Given the description of an element on the screen output the (x, y) to click on. 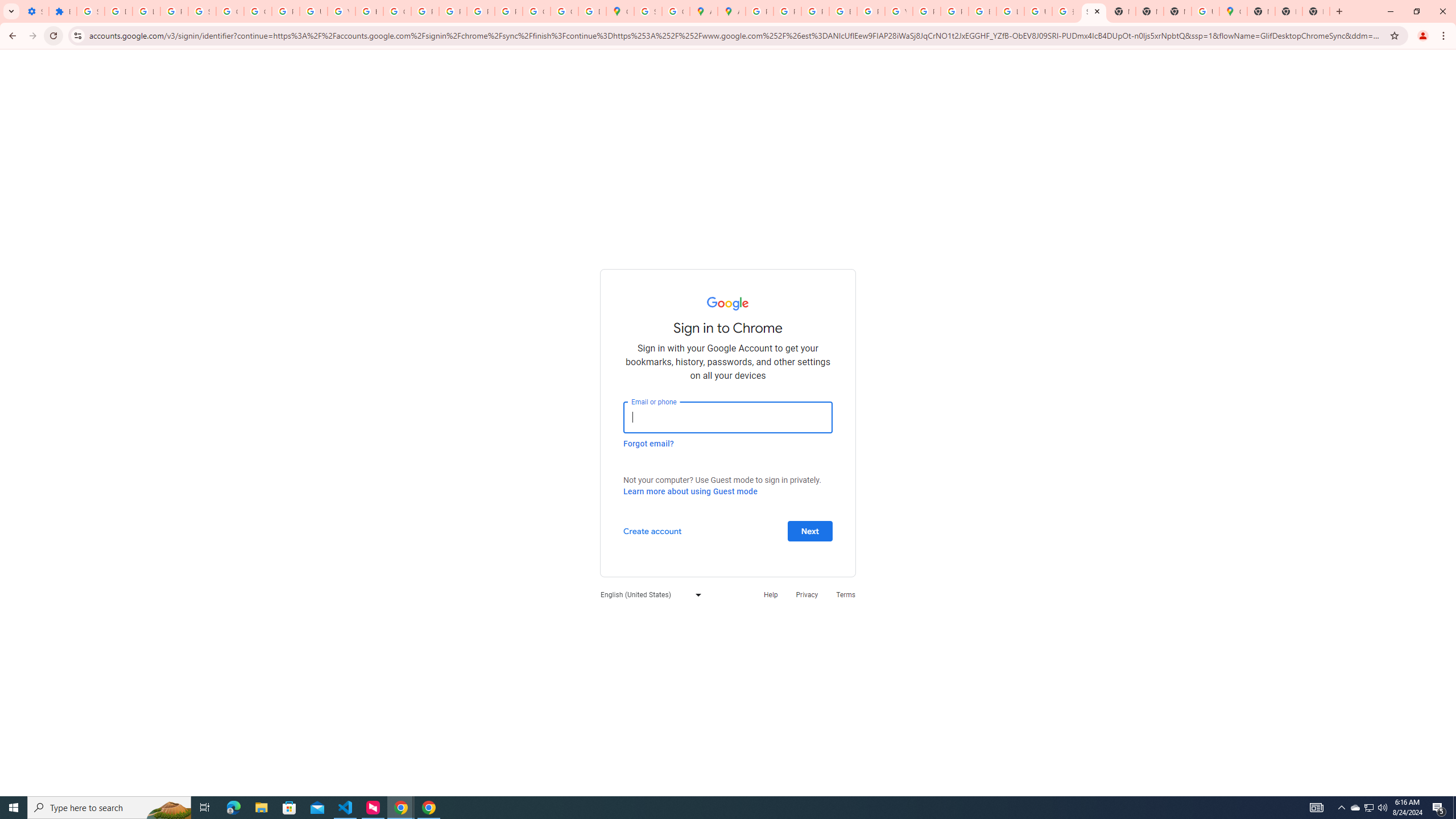
Delete photos & videos - Computer - Google Photos Help (118, 11)
YouTube (341, 11)
New Tab (1288, 11)
Google Maps (1233, 11)
https://scholar.google.com/ (369, 11)
Policy Accountability and Transparency - Transparency Center (759, 11)
